Given the description of an element on the screen output the (x, y) to click on. 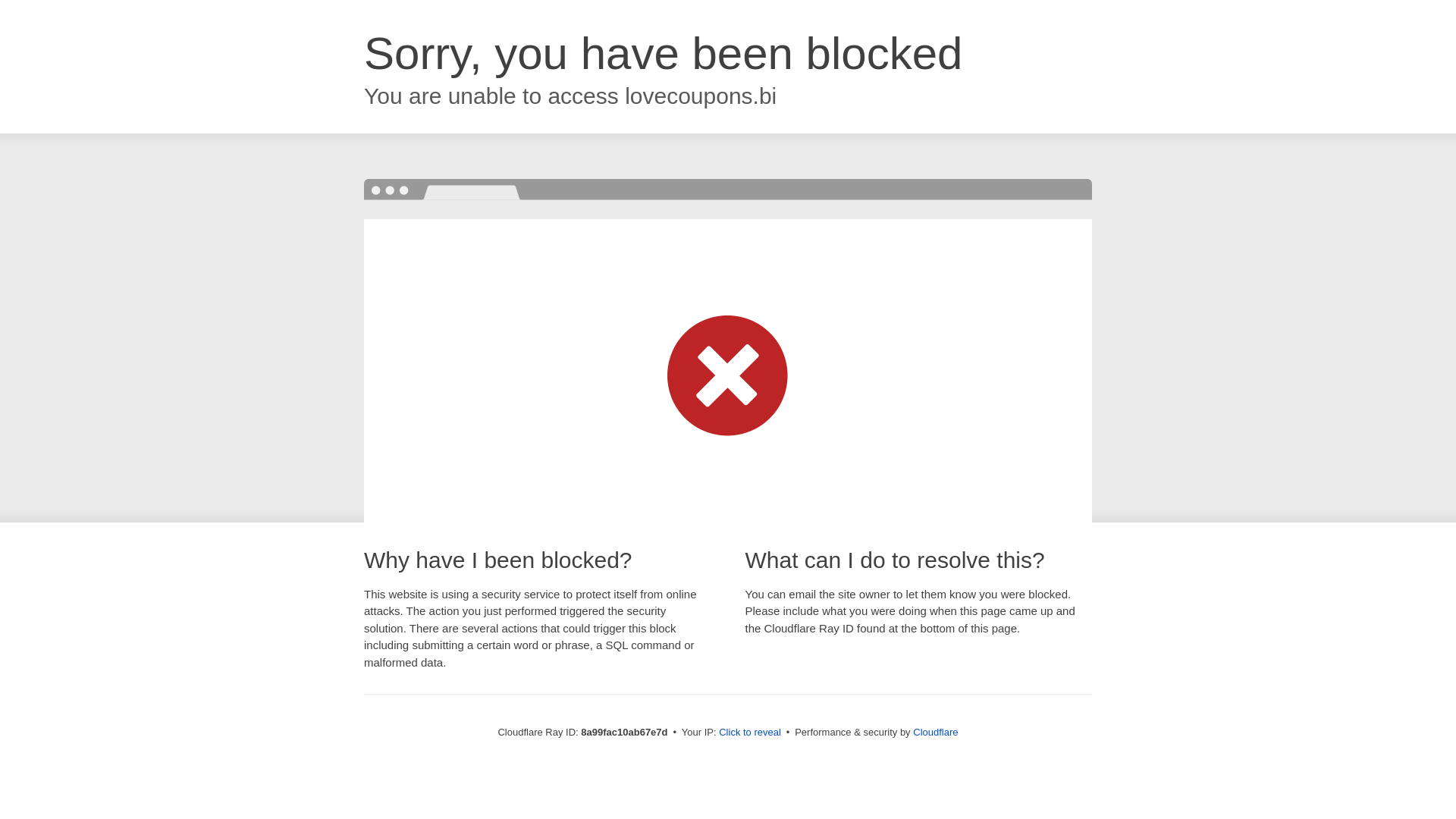
Click to reveal (749, 732)
Cloudflare (935, 731)
